Given the description of an element on the screen output the (x, y) to click on. 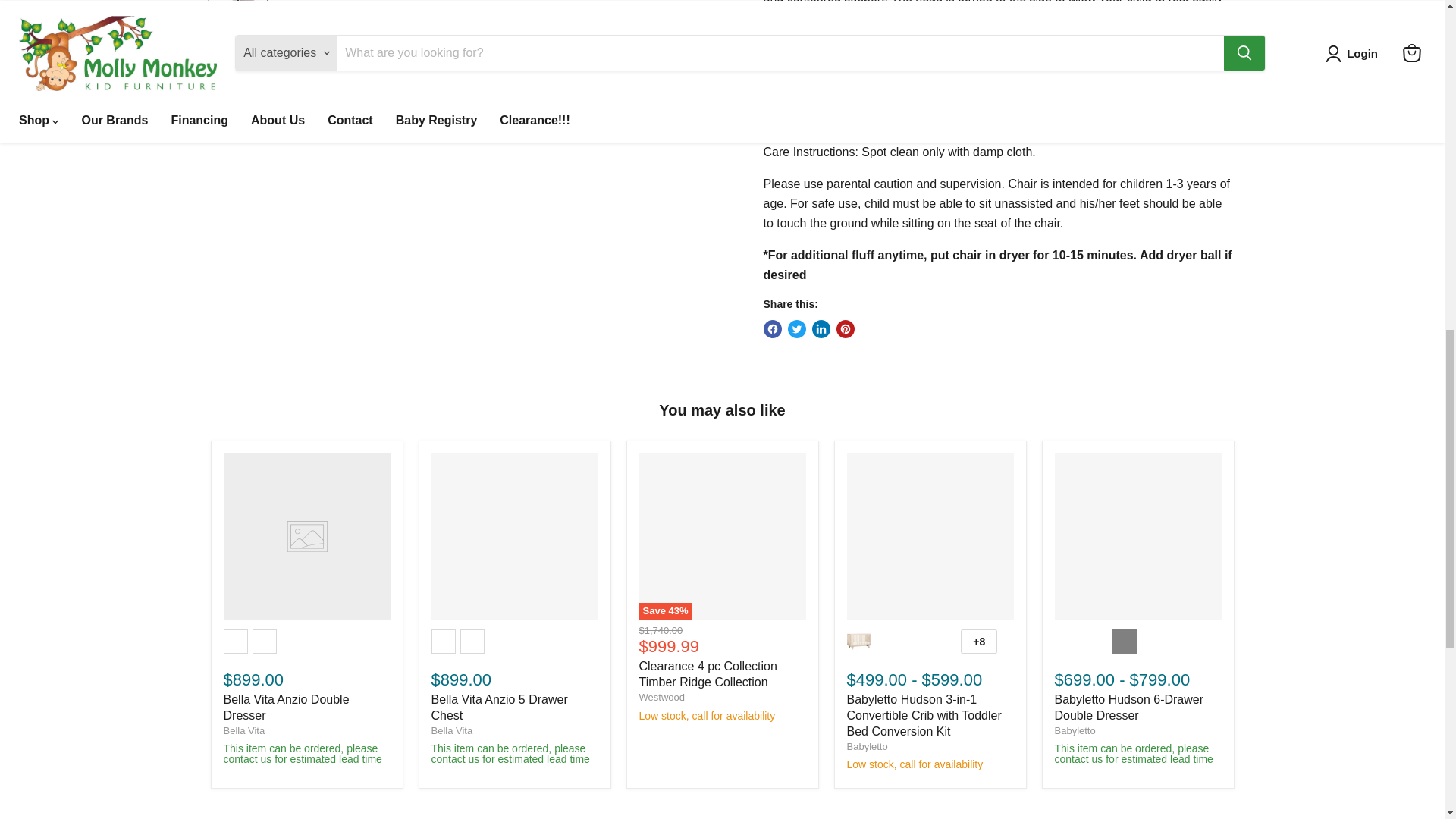
Babyletto (1074, 730)
Bella Vita (450, 730)
Bella Vita (243, 730)
Westwood (661, 696)
Babyletto (865, 746)
